Given the description of an element on the screen output the (x, y) to click on. 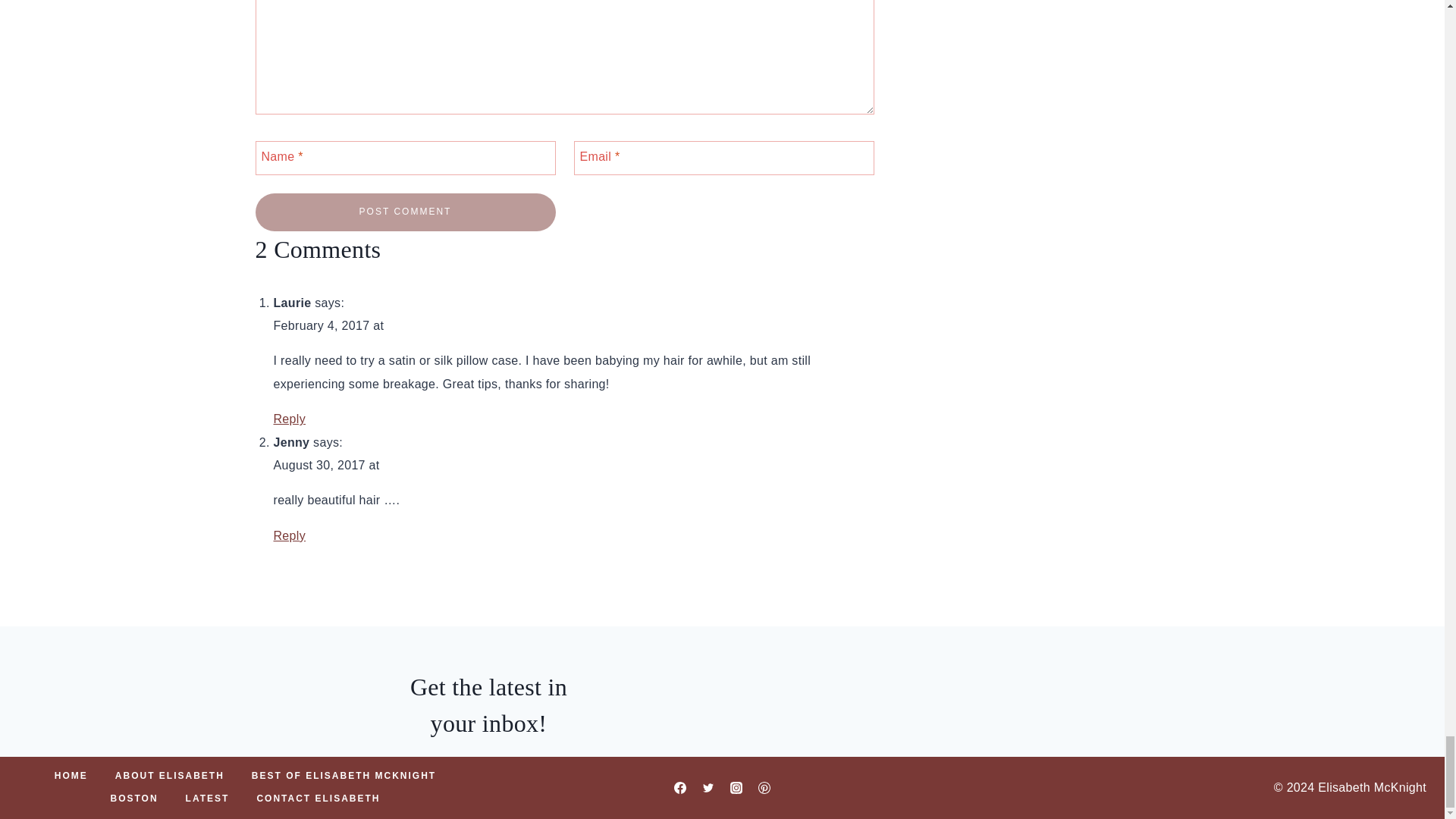
Post Comment (404, 211)
Post Comment (404, 211)
